Given the description of an element on the screen output the (x, y) to click on. 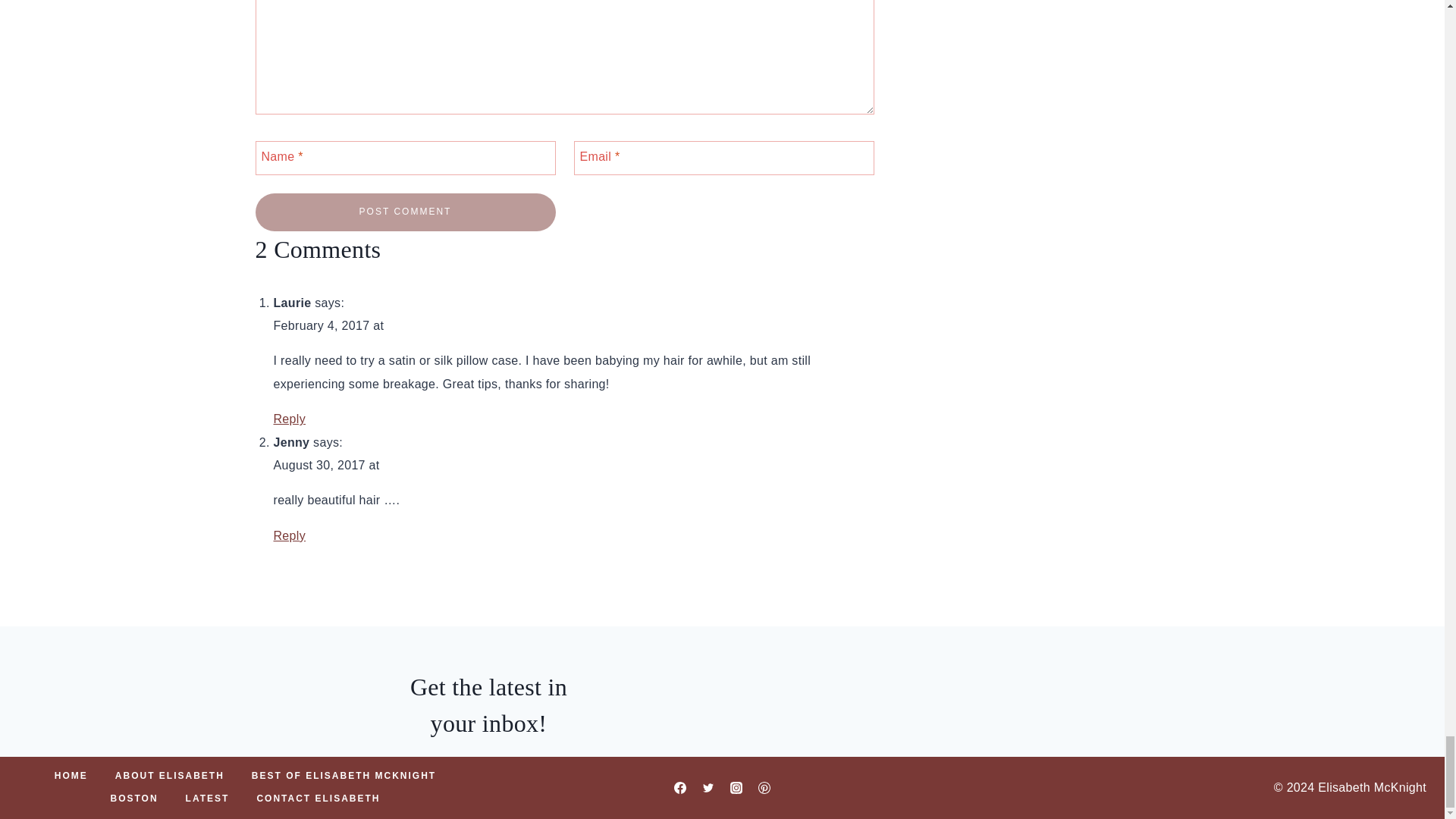
Post Comment (404, 211)
Post Comment (404, 211)
